Given the description of an element on the screen output the (x, y) to click on. 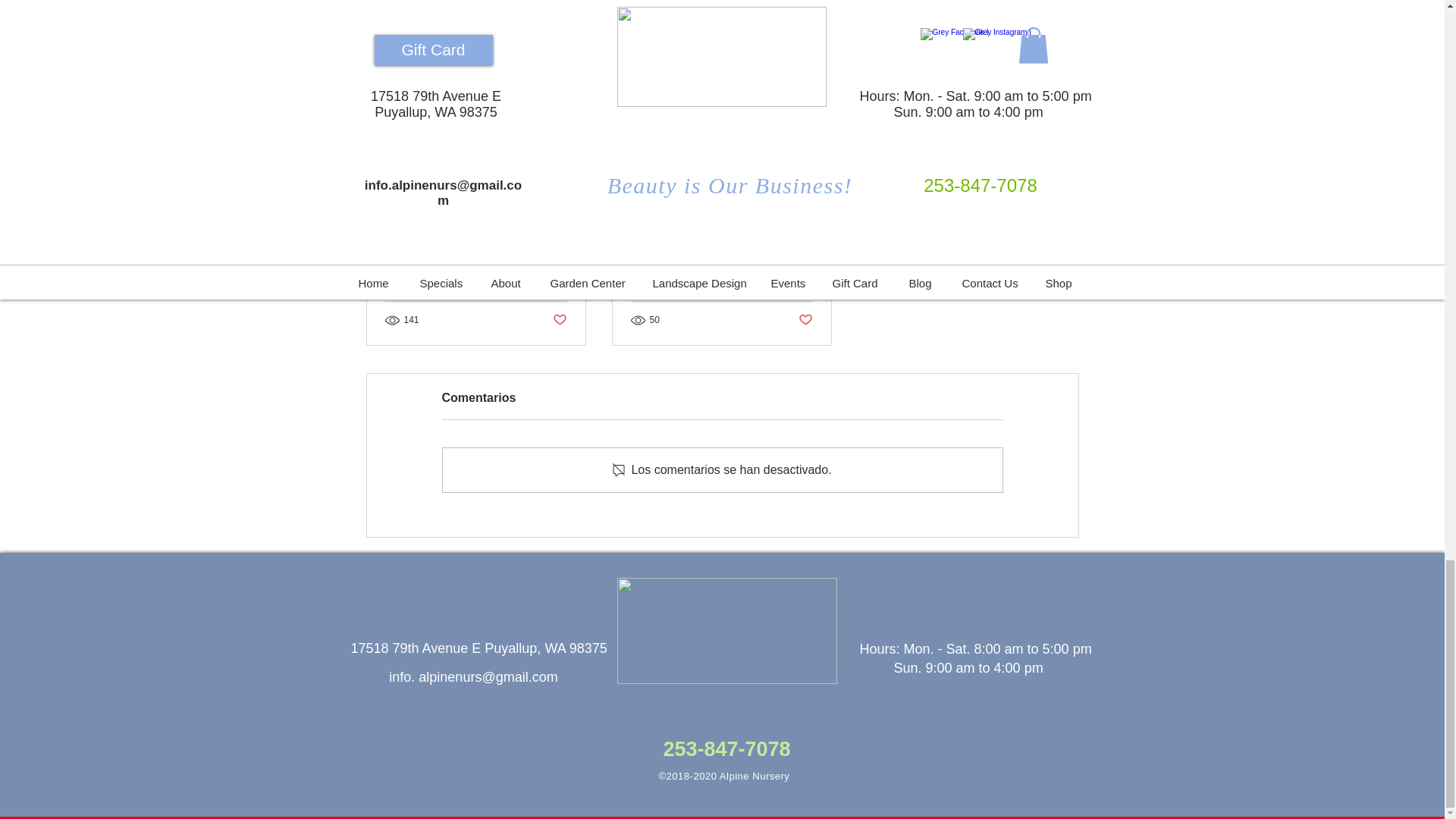
See All (1061, 83)
Living Christmas Tree Care (721, 258)
Post not marked as liked (558, 320)
Lawn Care (476, 258)
Post not marked as liked (804, 320)
